Given the description of an element on the screen output the (x, y) to click on. 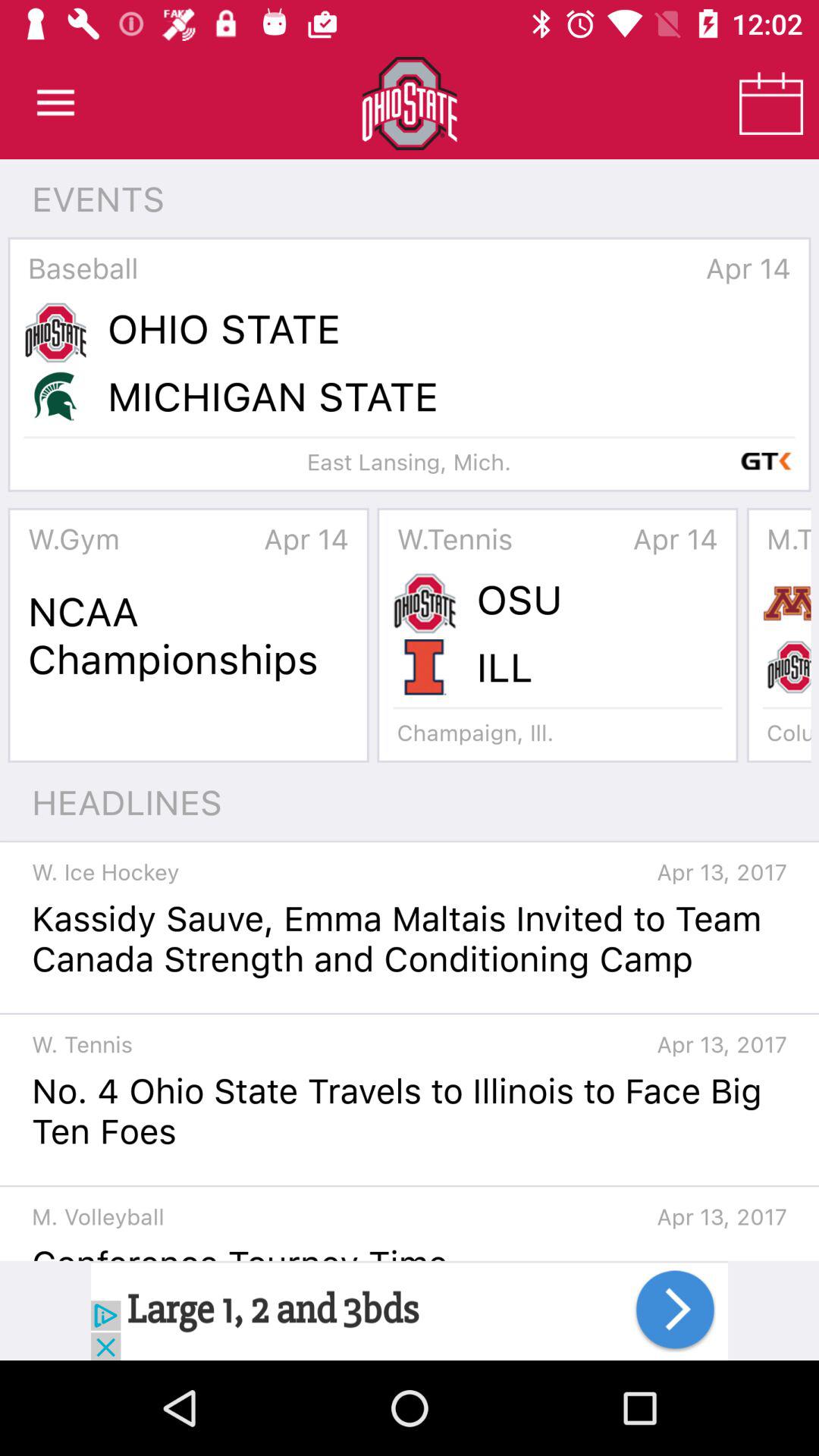
menu option (55, 103)
